Given the description of an element on the screen output the (x, y) to click on. 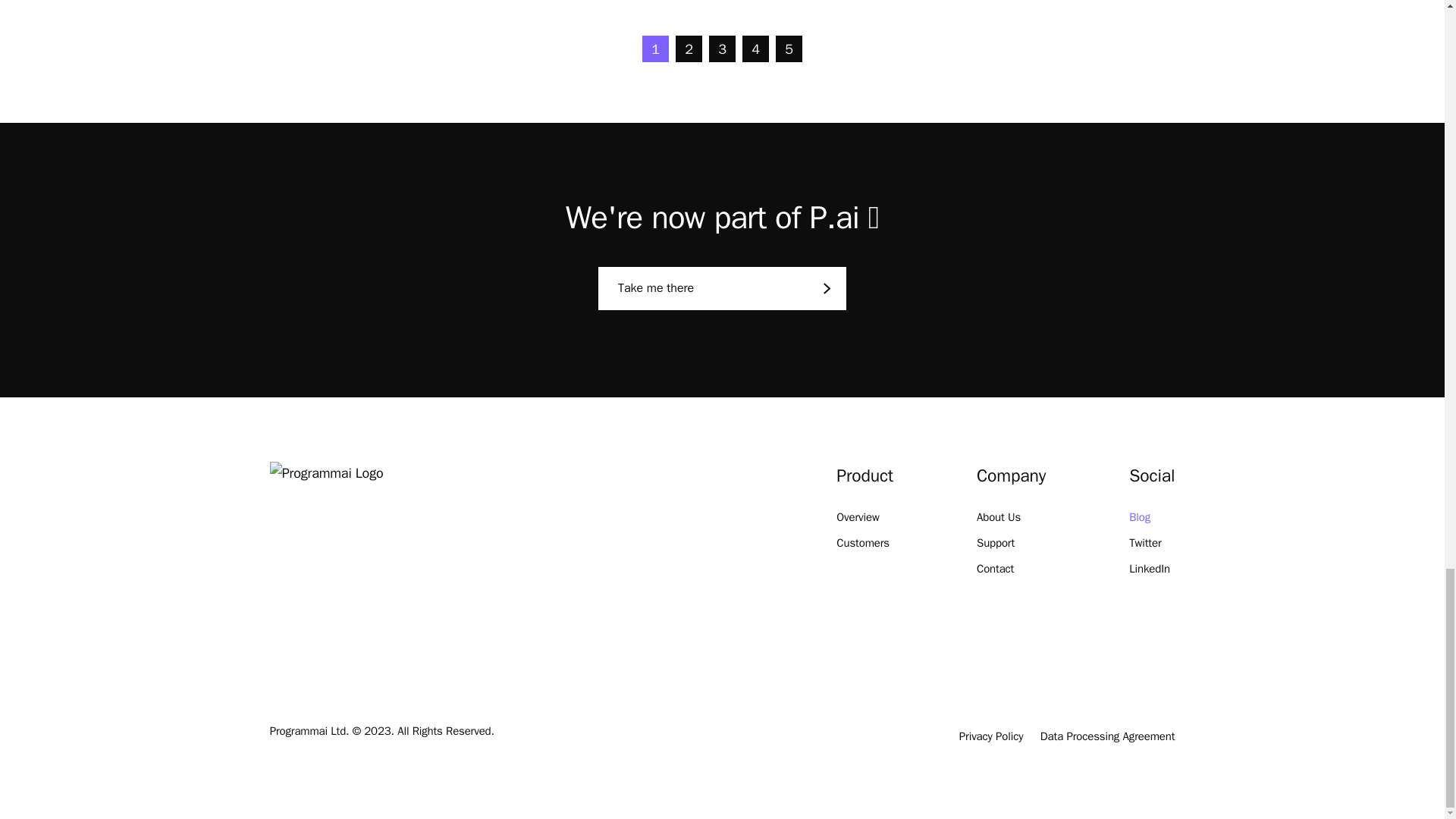
4 (755, 49)
2 (688, 49)
5 (789, 49)
1 (655, 49)
3 (722, 49)
